Given the description of an element on the screen output the (x, y) to click on. 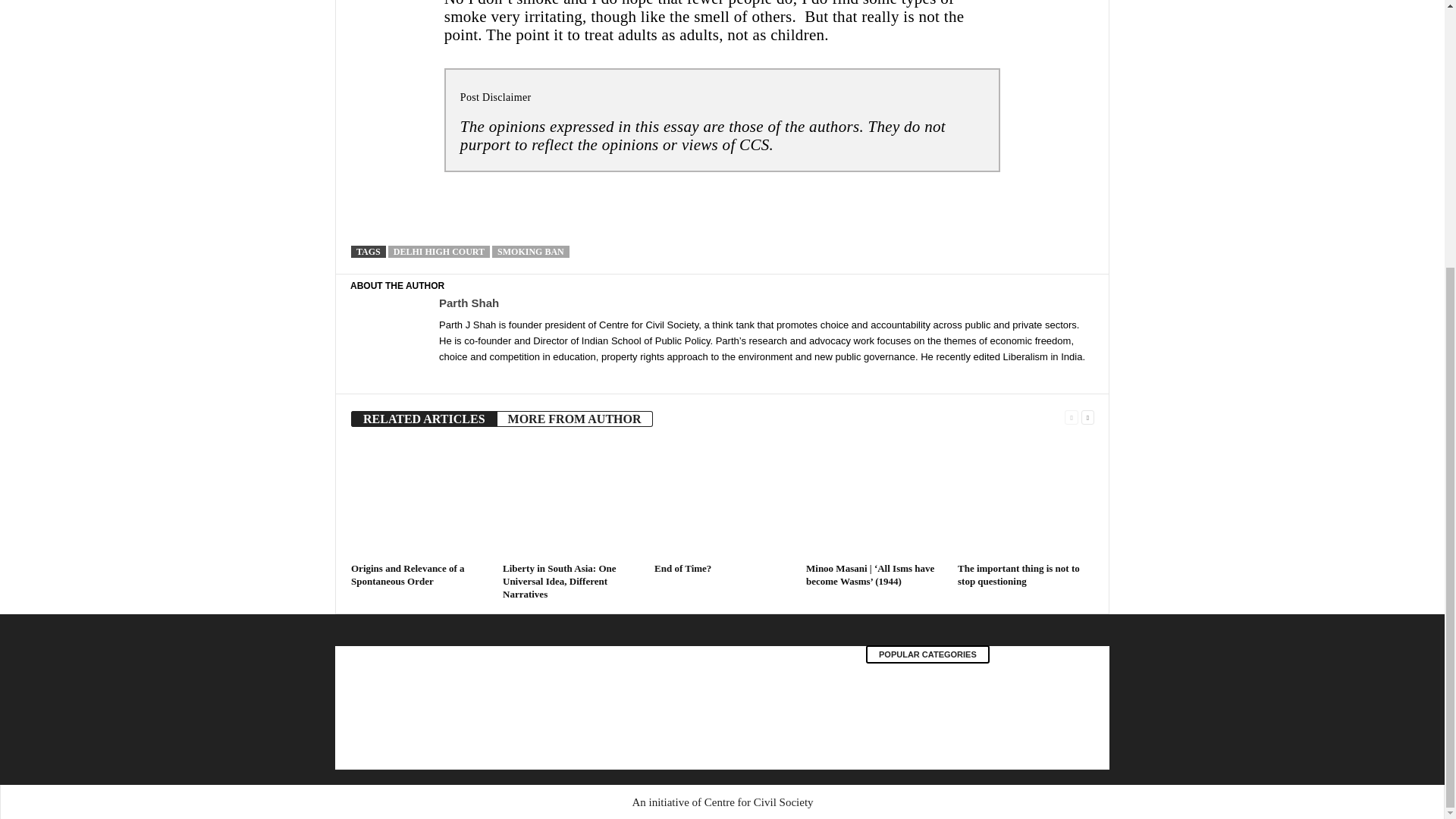
Origins and Relevance of a Spontaneous Order (407, 574)
Origins and Relevance of a Spontaneous Order (418, 500)
